Given the description of an element on the screen output the (x, y) to click on. 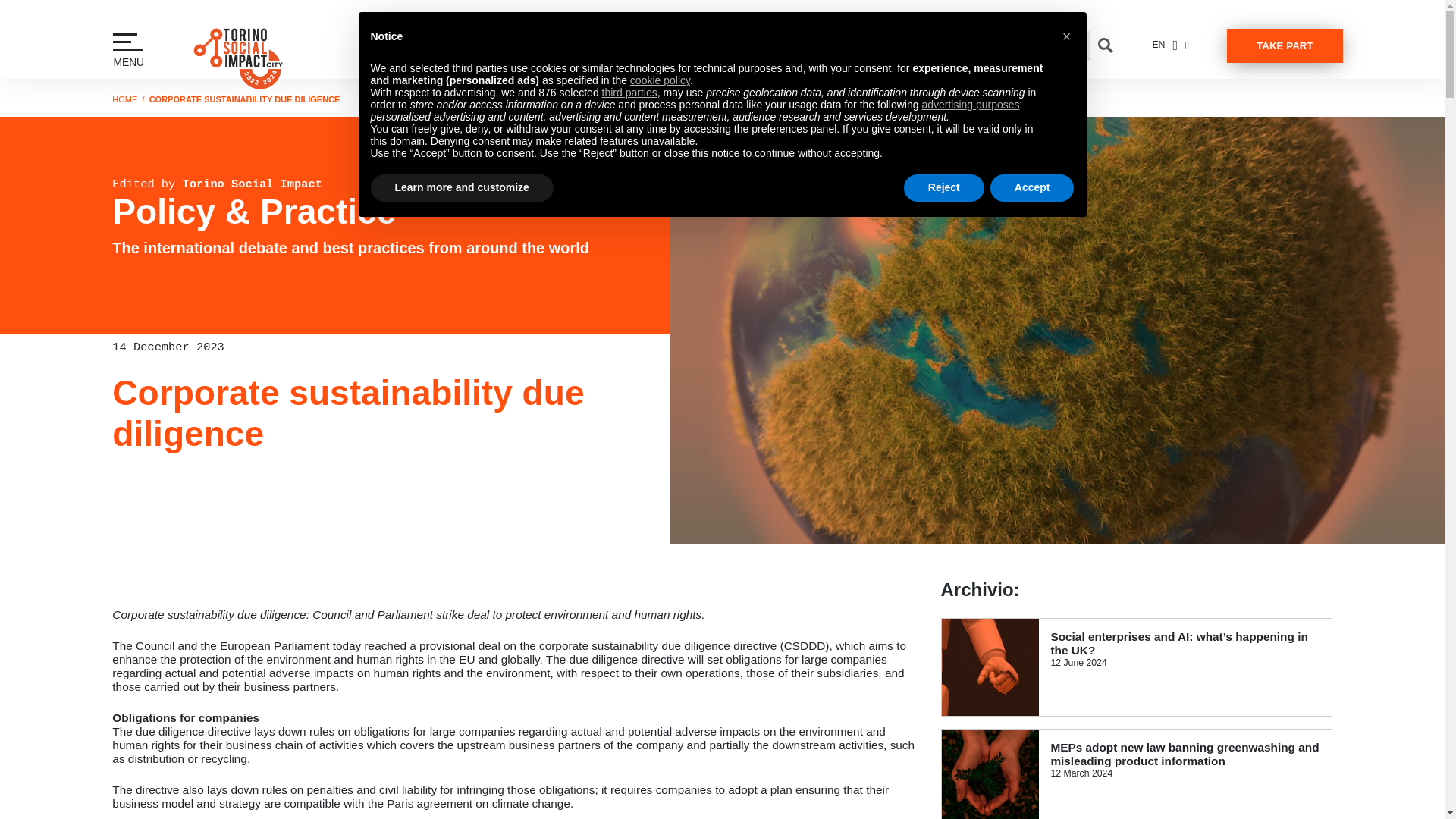
MENU (127, 48)
Search (1105, 45)
Search (1105, 45)
Search for: (1004, 45)
